Given the description of an element on the screen output the (x, y) to click on. 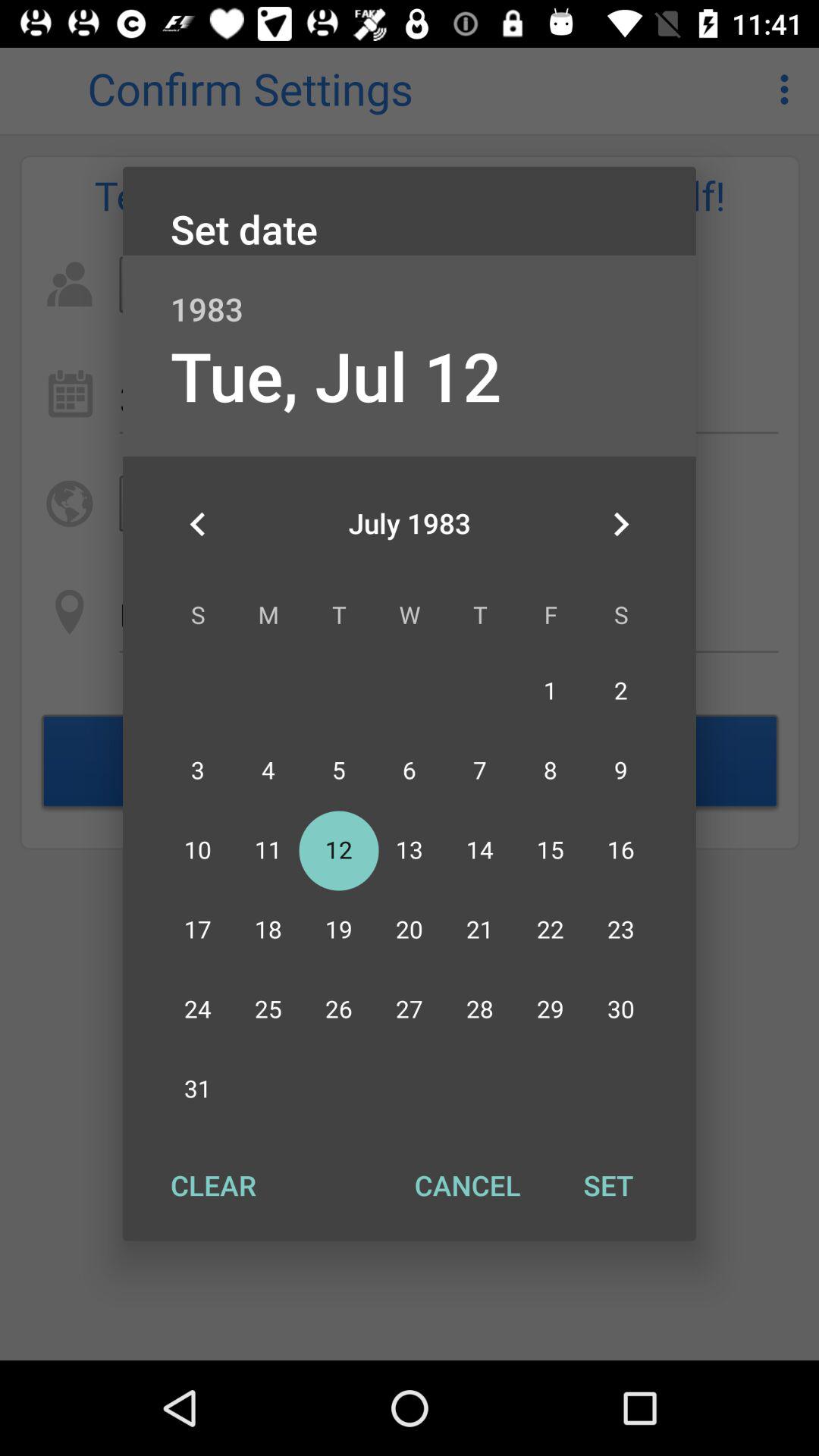
click icon on the right (620, 524)
